Given the description of an element on the screen output the (x, y) to click on. 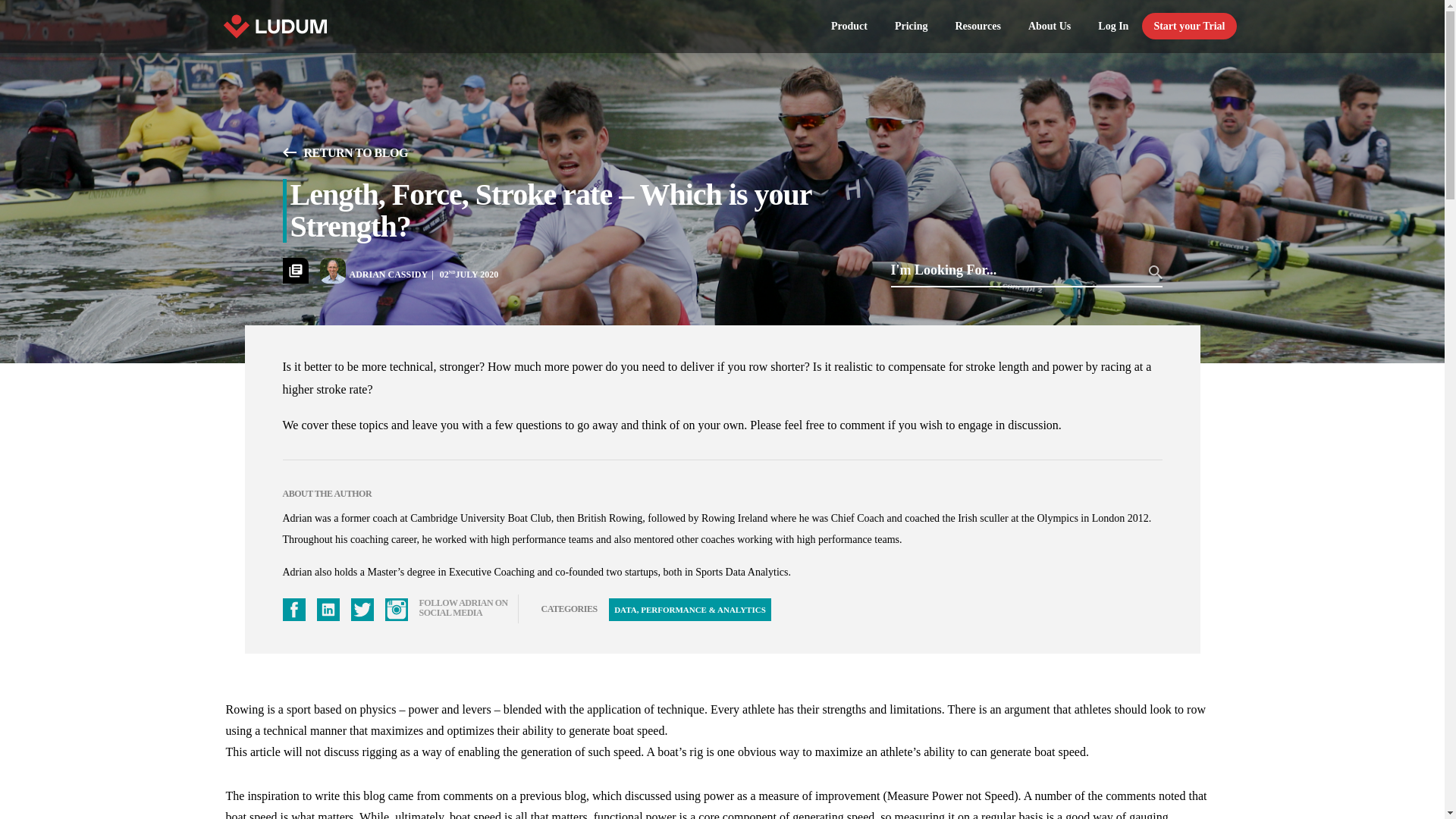
Site logo (273, 26)
instagram (396, 609)
Start your Trial (1188, 26)
RETURN TO BLOG (344, 152)
ADRIAN CASSIDY (394, 274)
facebook (293, 609)
linkedin (328, 609)
twitter (361, 609)
SUBMIT (1154, 272)
